Given the description of an element on the screen output the (x, y) to click on. 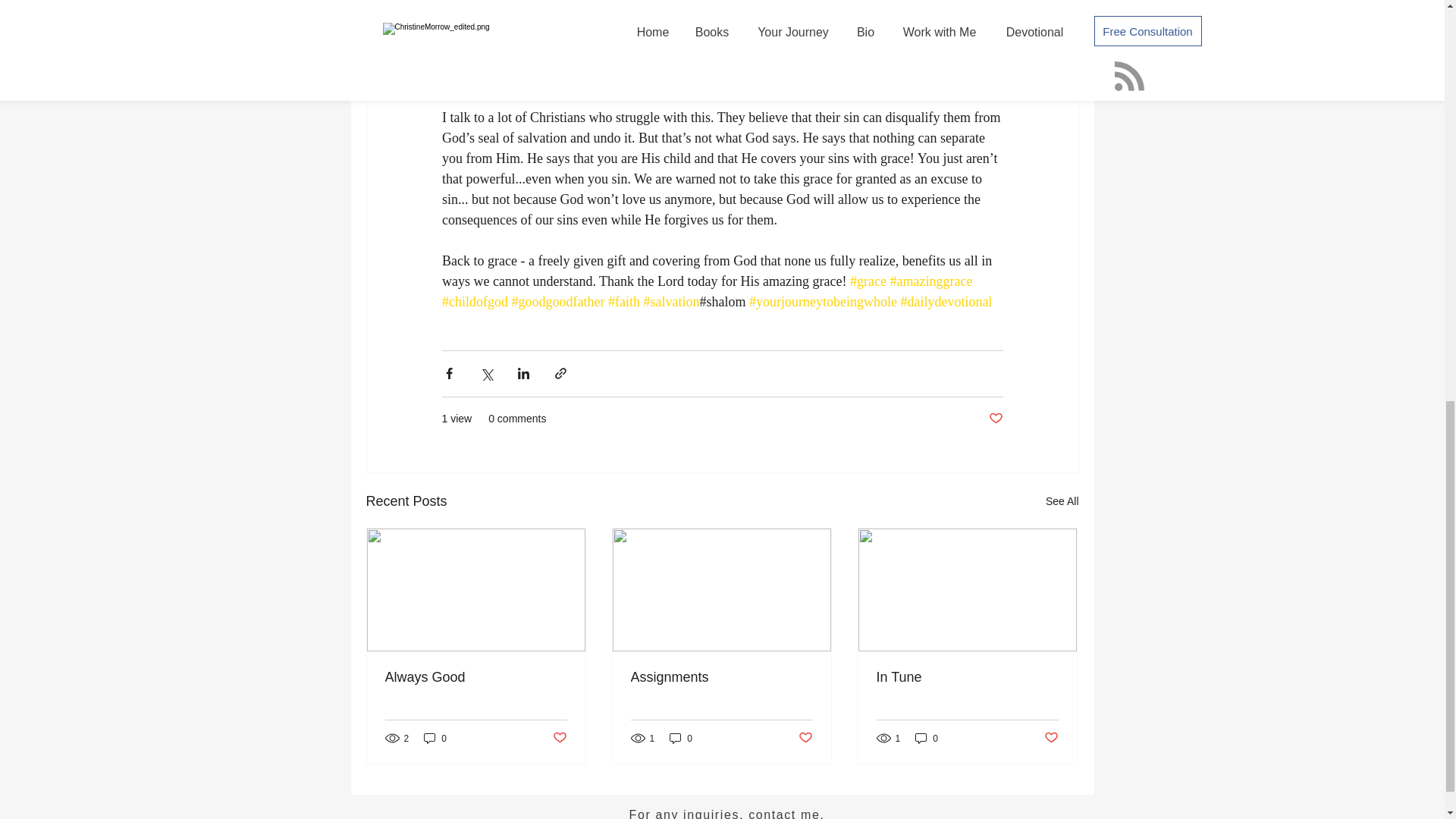
Always Good (476, 677)
See All (1061, 501)
Post not marked as liked (558, 738)
In Tune (967, 677)
Post not marked as liked (1050, 738)
Assignments (721, 677)
0 (681, 738)
Post not marked as liked (995, 418)
Post not marked as liked (804, 738)
0 (435, 738)
